Given the description of an element on the screen output the (x, y) to click on. 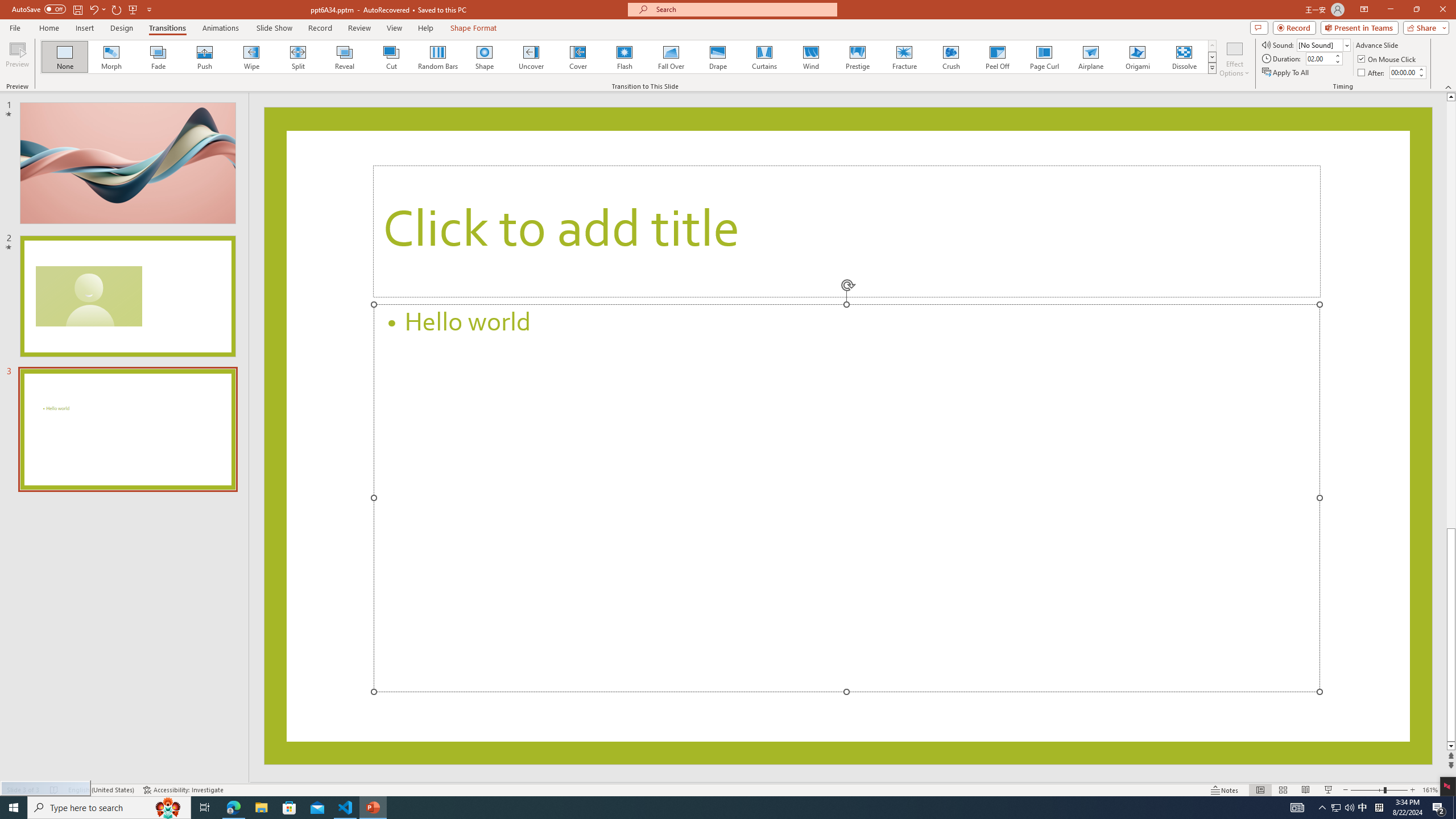
AutomationID: AnimationTransitionGallery (628, 56)
Wipe (251, 56)
Less (1420, 75)
